Given the description of an element on the screen output the (x, y) to click on. 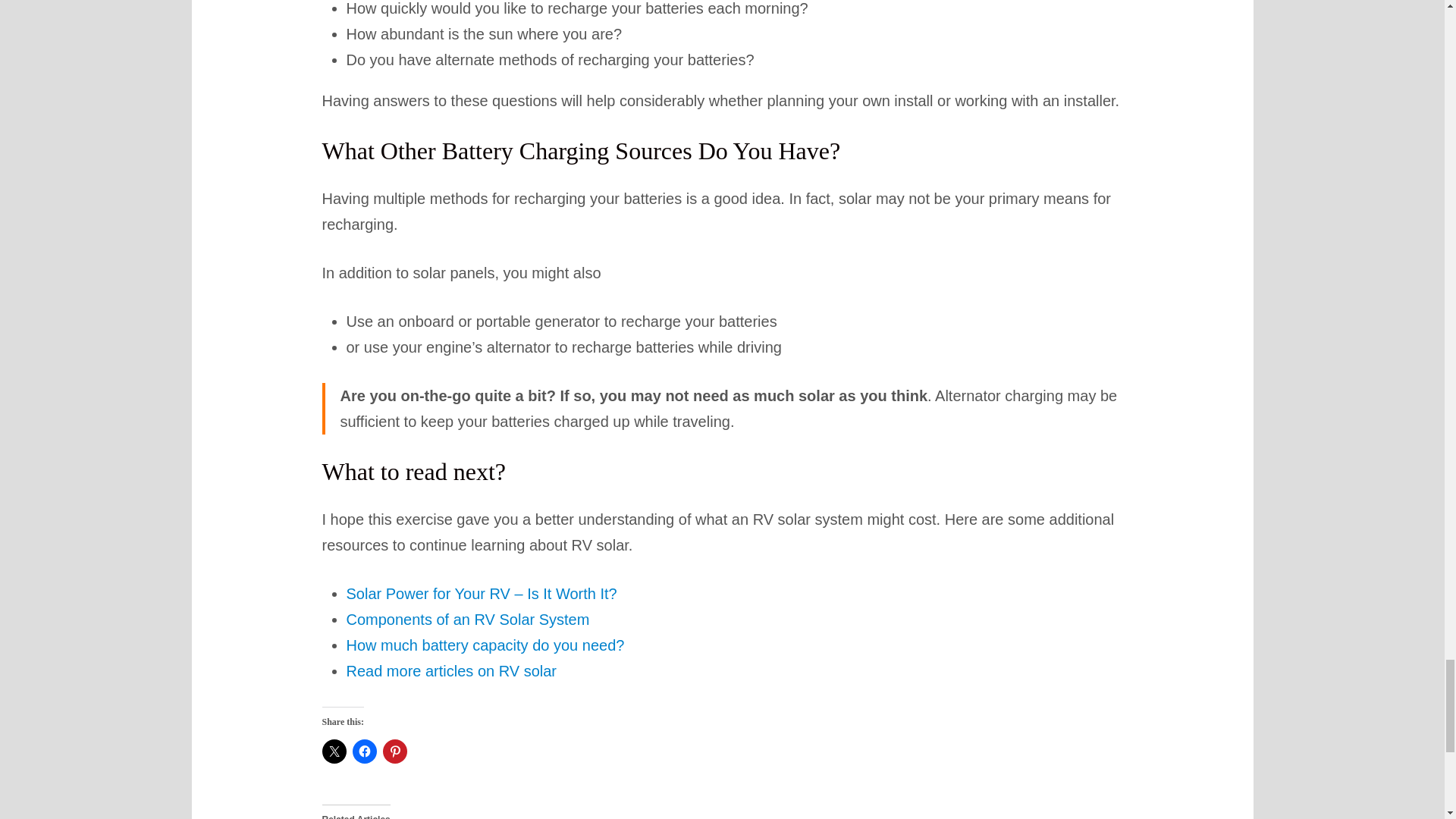
Click to share on Facebook (363, 751)
Click to share on Pinterest (393, 751)
Click to share on X (333, 751)
